Given the description of an element on the screen output the (x, y) to click on. 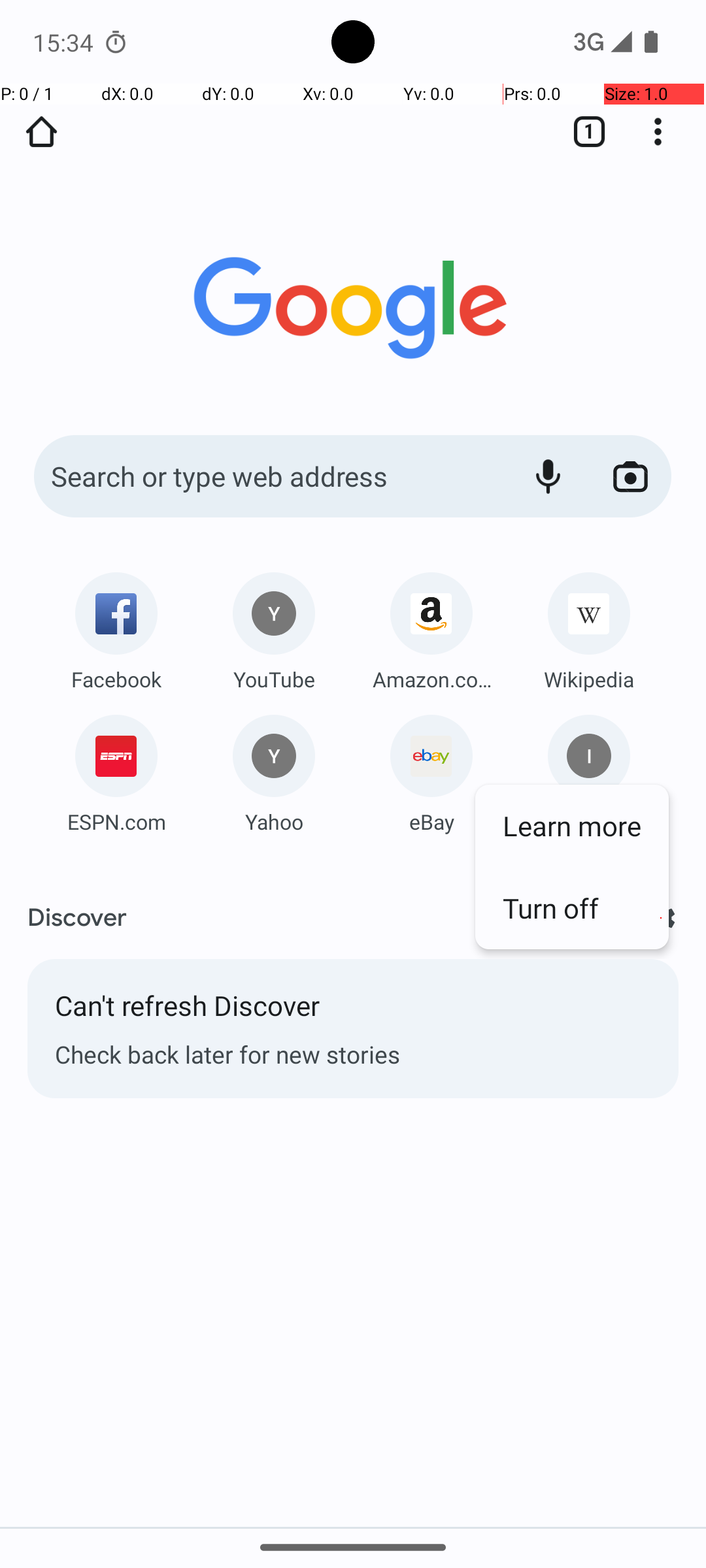
Turn off Element type: android.widget.TextView (571, 907)
